Given the description of an element on the screen output the (x, y) to click on. 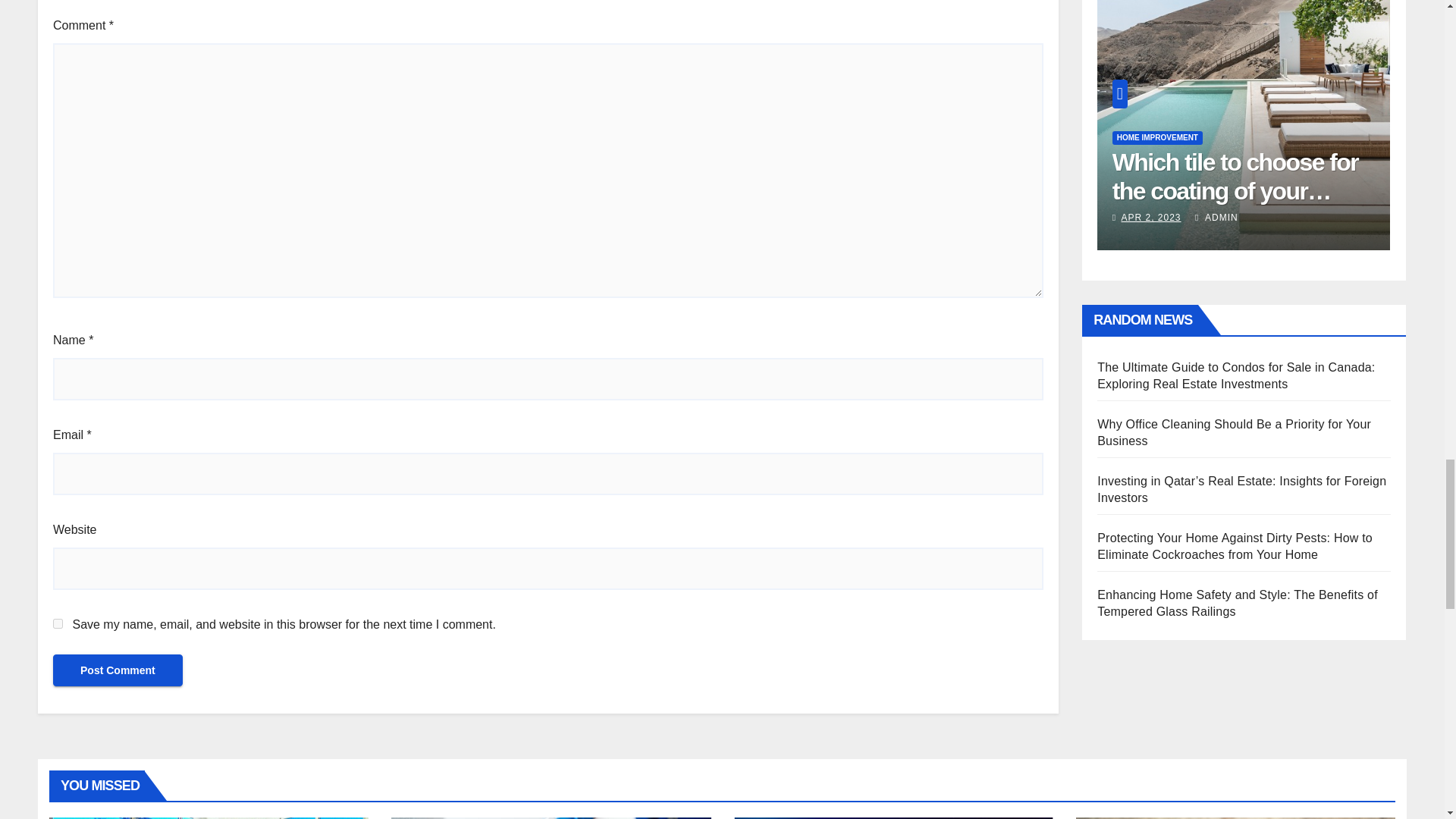
Post Comment (117, 670)
yes (57, 623)
